Given the description of an element on the screen output the (x, y) to click on. 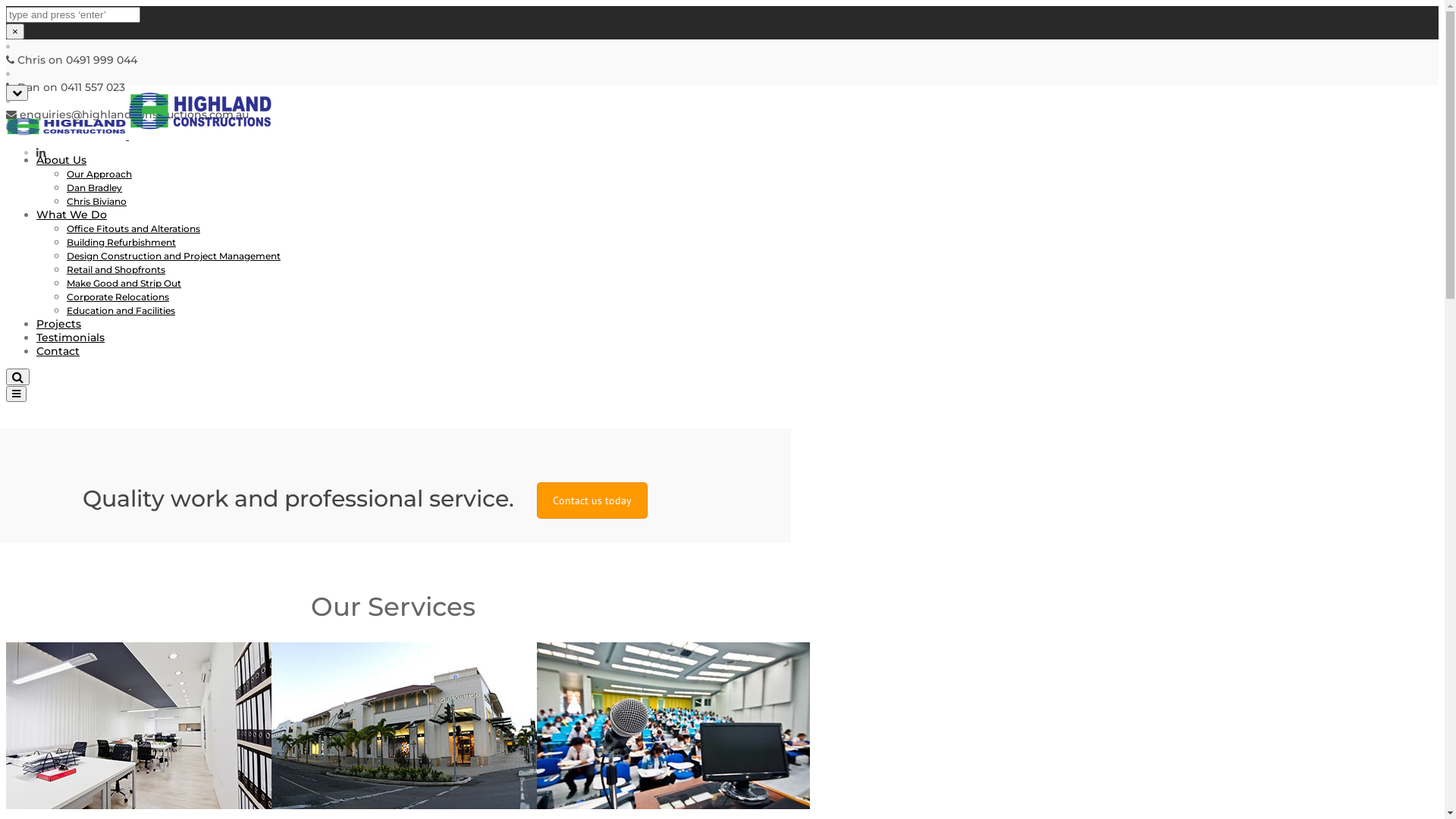
Education and Facilities Element type: text (120, 310)
Office Fitouts and Alterations Element type: text (133, 228)
Design Construction and Project Management Element type: text (173, 255)
About Us Element type: text (61, 159)
Our Approach Element type: text (98, 173)
Make Good and Strip Out Element type: text (123, 282)
Chris Biviano Element type: text (96, 201)
Projects Element type: text (58, 323)
Close top bar Element type: text (17, 92)
Building Refurbishment Element type: text (120, 241)
Testimonials Element type: text (70, 337)
Corporate Relocations Element type: text (117, 296)
Retail and Shopfronts Element type: text (115, 269)
What We Do Element type: text (71, 214)
Contact Element type: text (57, 350)
Dan Bradley Element type: text (94, 187)
Toggle navigation Element type: text (16, 393)
Contact us today Element type: text (591, 500)
Search Element type: text (17, 376)
